Given the description of an element on the screen output the (x, y) to click on. 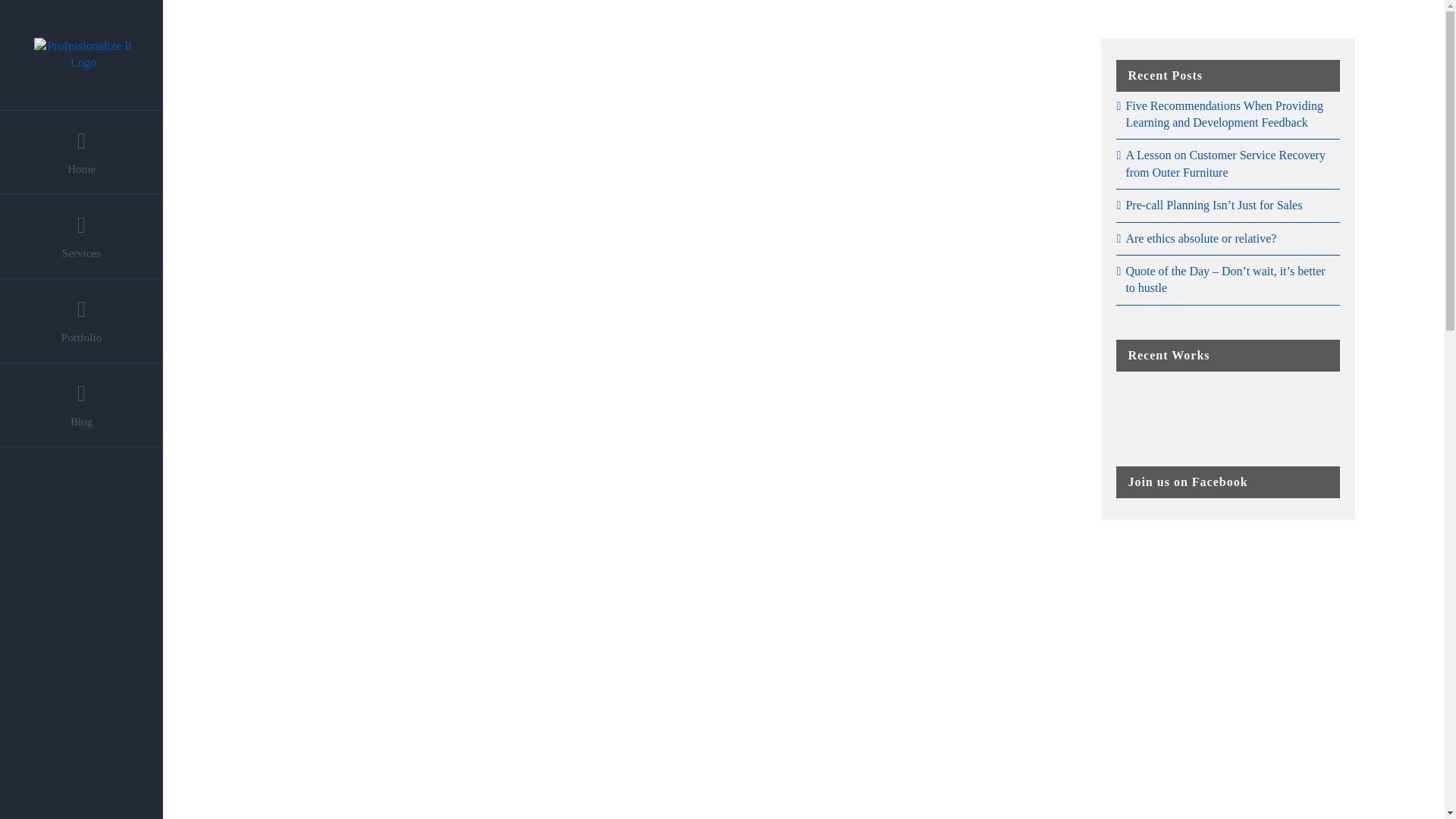
Are ethics absolute or relative? (1200, 237)
eLearning Work Samples Produced by Jenny Anderson (1142, 404)
Blog (81, 405)
Home (81, 151)
Services (81, 236)
A Lesson on Customer Service Recovery from Outer Furniture (1224, 163)
Portfolio (81, 321)
